Given the description of an element on the screen output the (x, y) to click on. 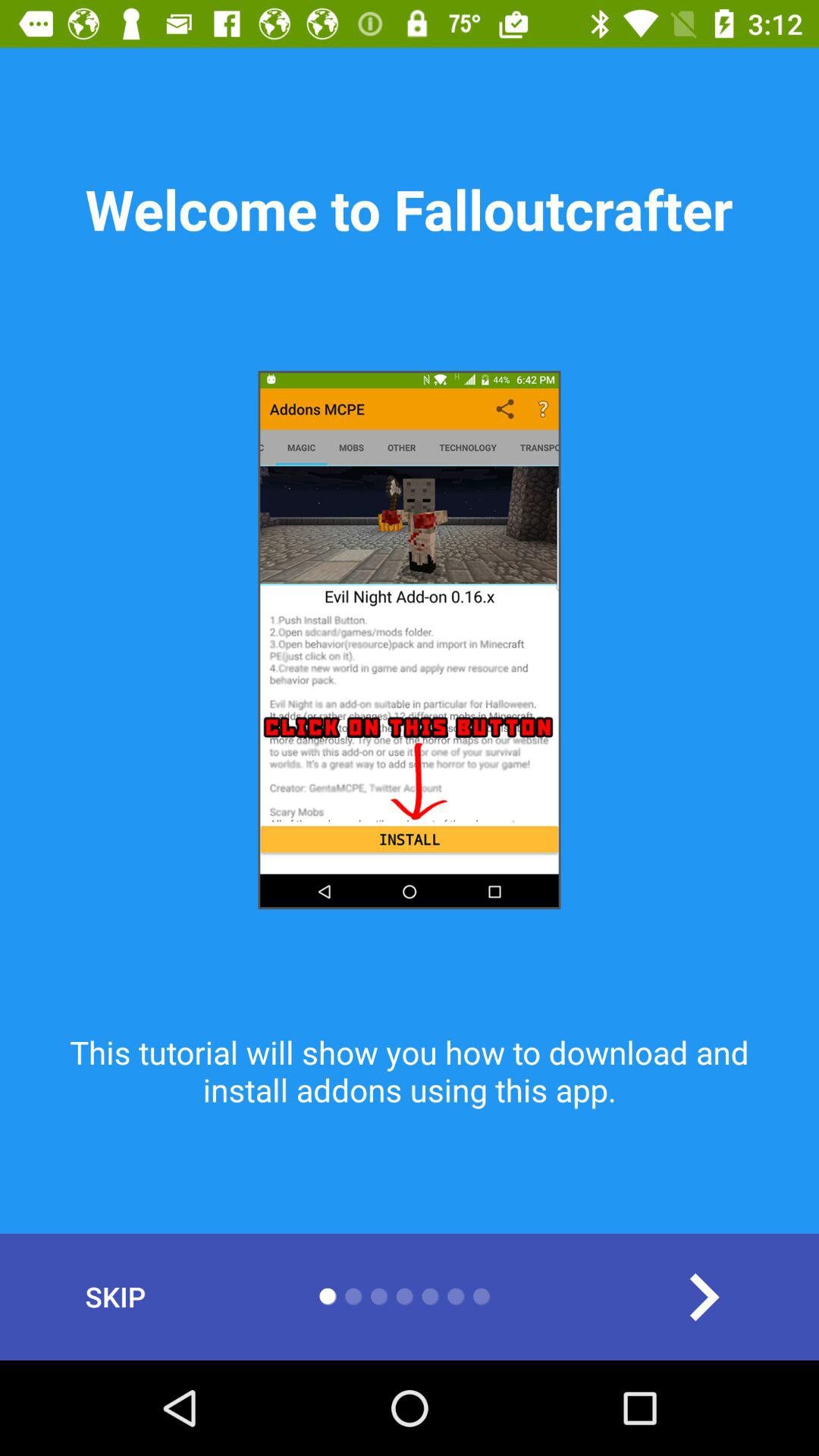
turn on skip item (114, 1296)
